Given the description of an element on the screen output the (x, y) to click on. 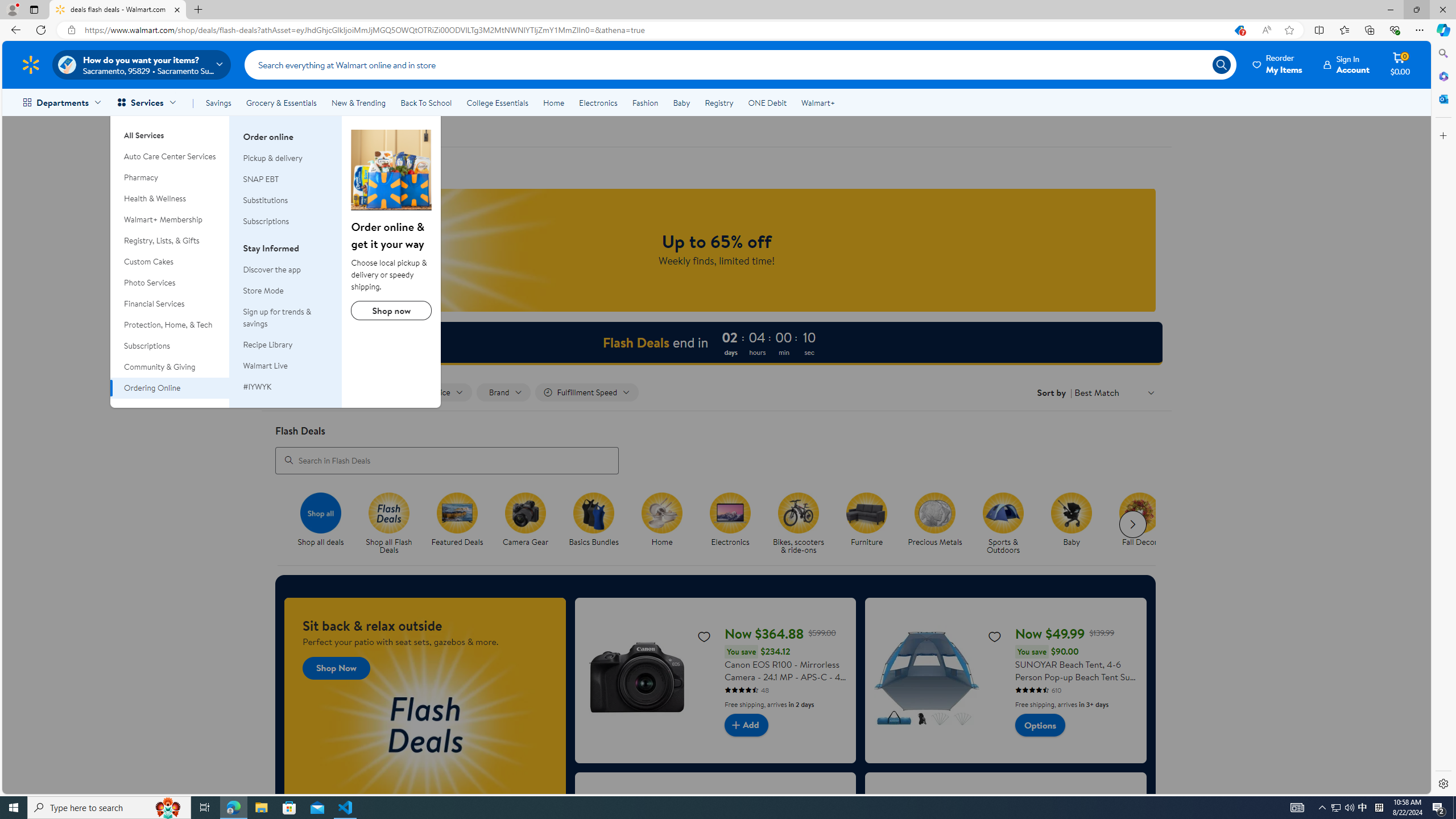
Bikes, scooters & ride-ons (802, 524)
Camera Gear (530, 524)
Shop now (391, 310)
